Given the description of an element on the screen output the (x, y) to click on. 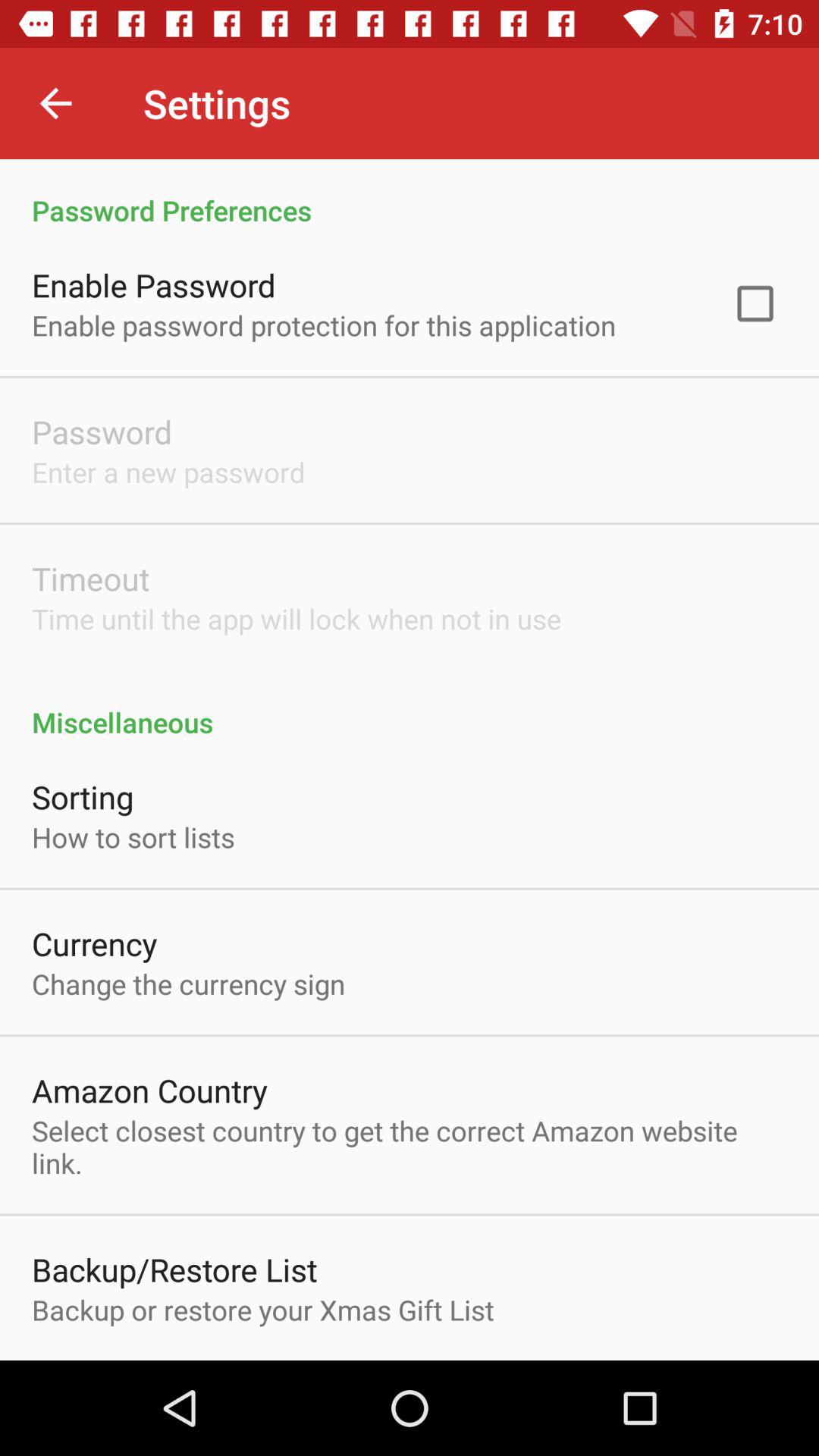
select icon above the miscellaneous icon (296, 618)
